Given the description of an element on the screen output the (x, y) to click on. 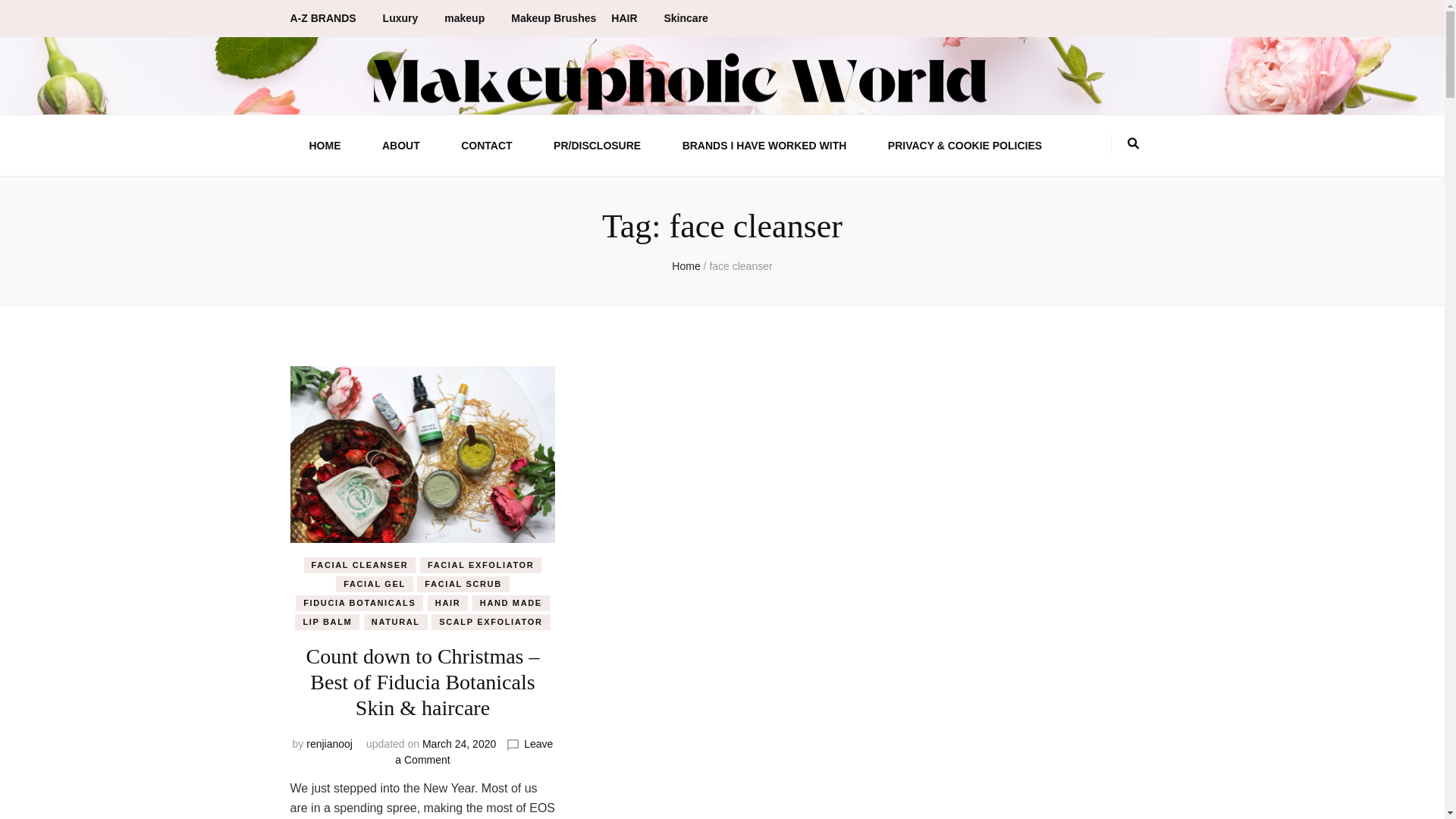
A-Z BRANDS (327, 18)
